Given the description of an element on the screen output the (x, y) to click on. 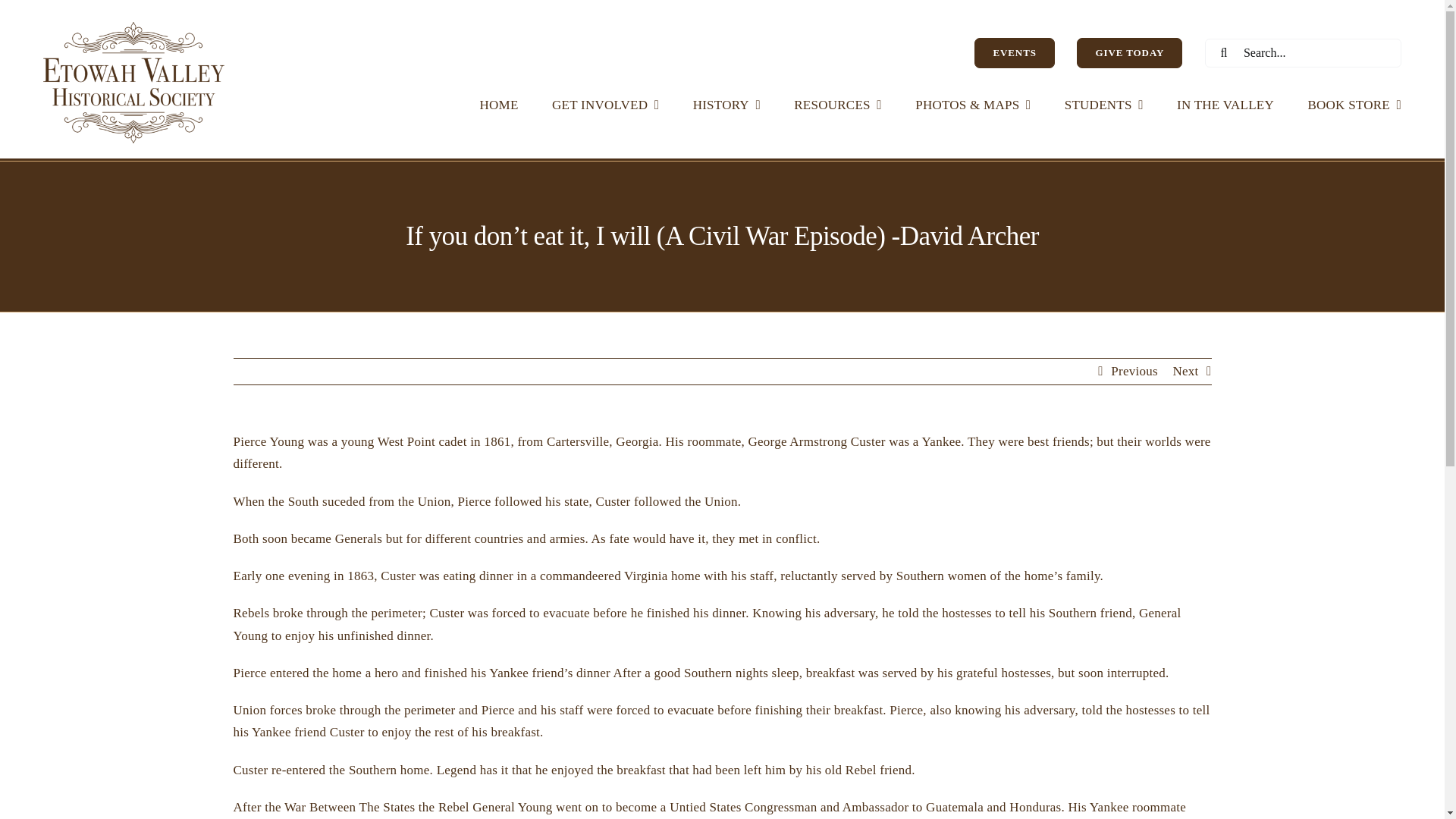
HISTORY (726, 104)
GET INVOLVED (605, 104)
RESOURCES (837, 104)
GIVE TODAY (1129, 52)
Etowah Valley Historical Society (133, 83)
EVENTS (1014, 52)
